Given the description of an element on the screen output the (x, y) to click on. 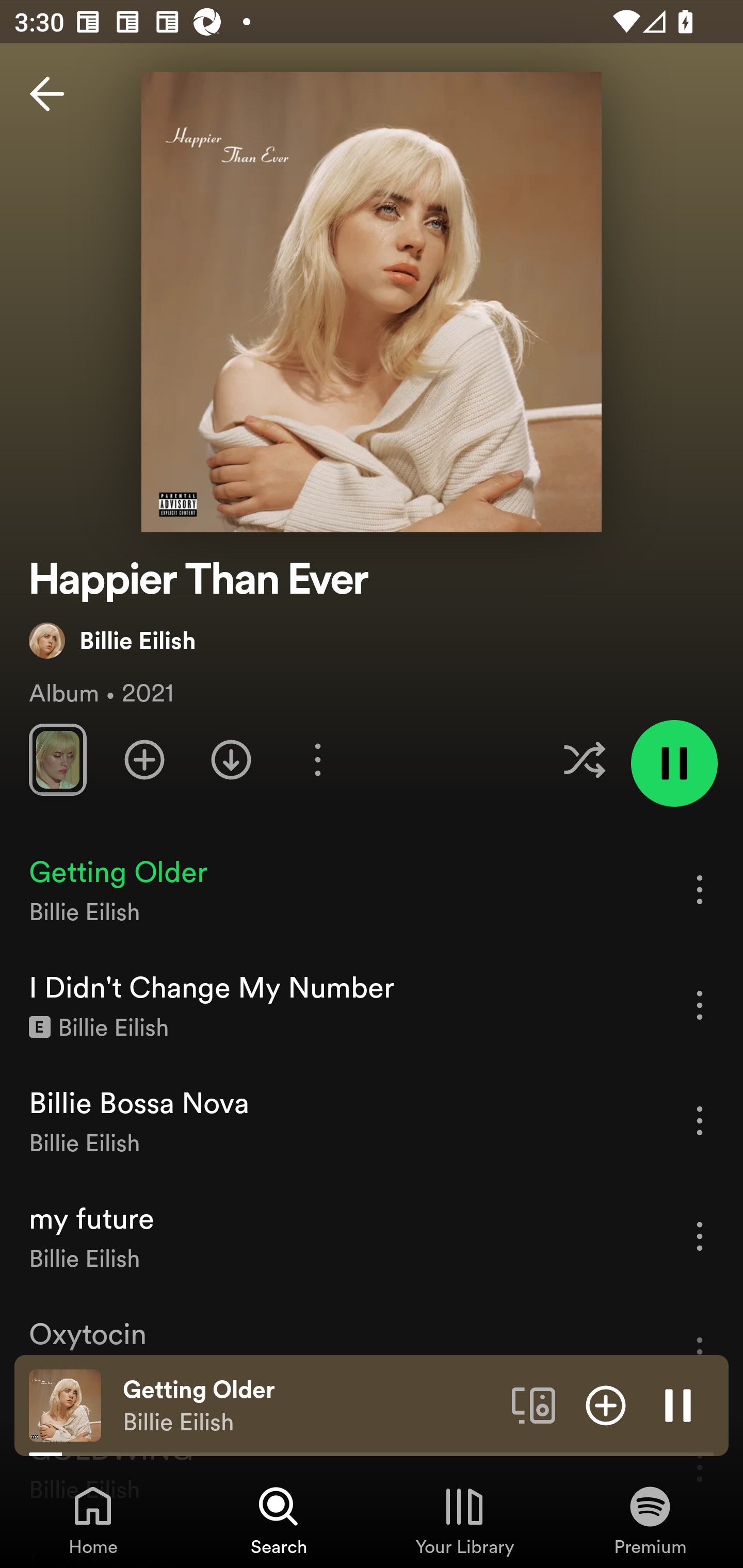
Back (46, 93)
Billie Eilish (112, 640)
Swipe through previews of tracks from this album. (57, 759)
Add playlist to Your Library (144, 759)
Download (230, 759)
More options for playlist Happier Than Ever (317, 759)
Enable shuffle for this playlist (583, 759)
Pause playlist (674, 763)
More options for song Getting Older (699, 889)
More options for song I Didn't Change My Number (699, 1004)
More options for song Billie Bossa Nova (699, 1120)
More options for song my future (699, 1236)
Getting Older Billie Eilish (309, 1405)
The cover art of the currently playing track (64, 1404)
